Given the description of an element on the screen output the (x, y) to click on. 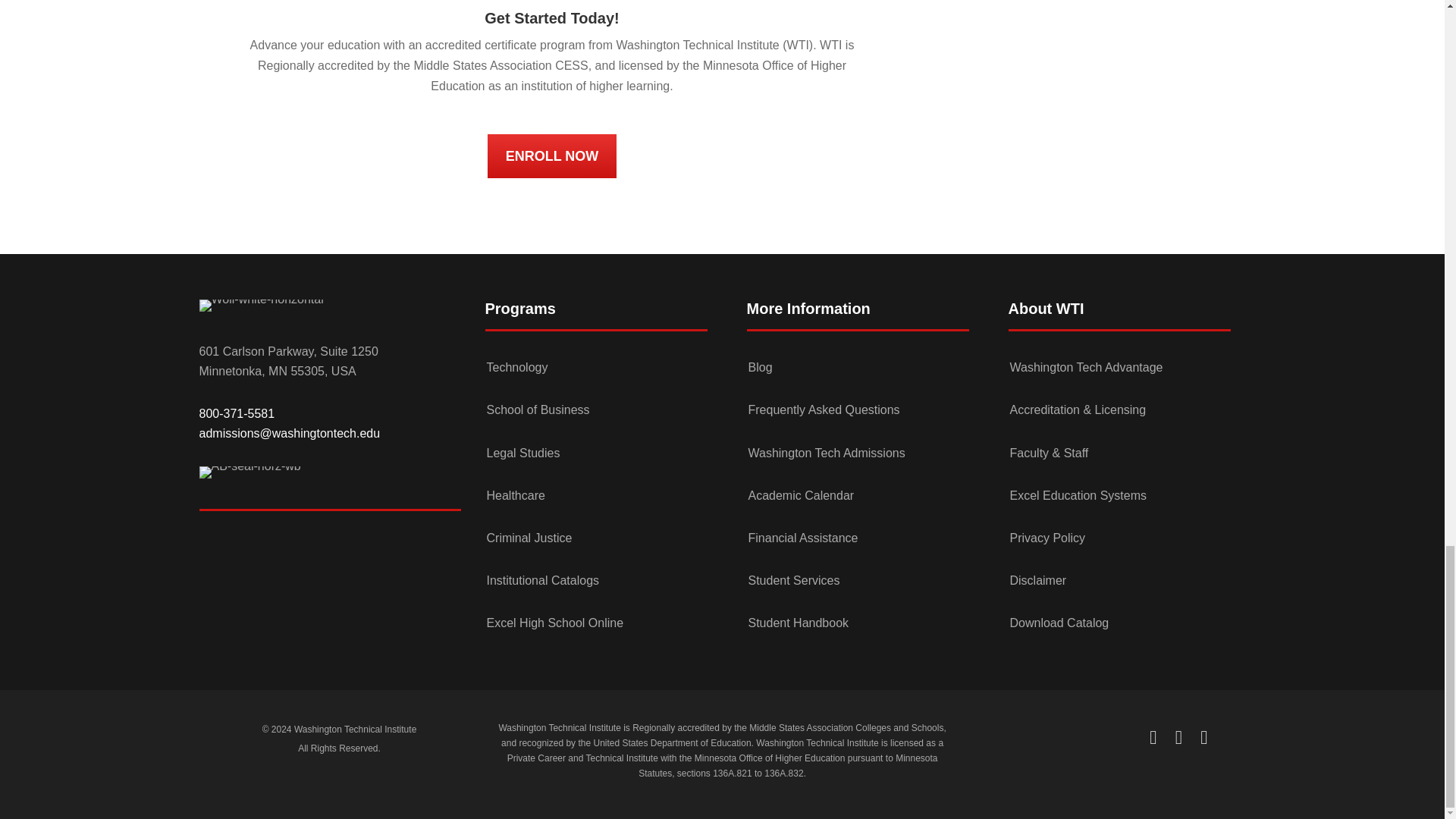
AB-seal-horz-wb (248, 472)
Woli-white-horizontal (260, 305)
